Given the description of an element on the screen output the (x, y) to click on. 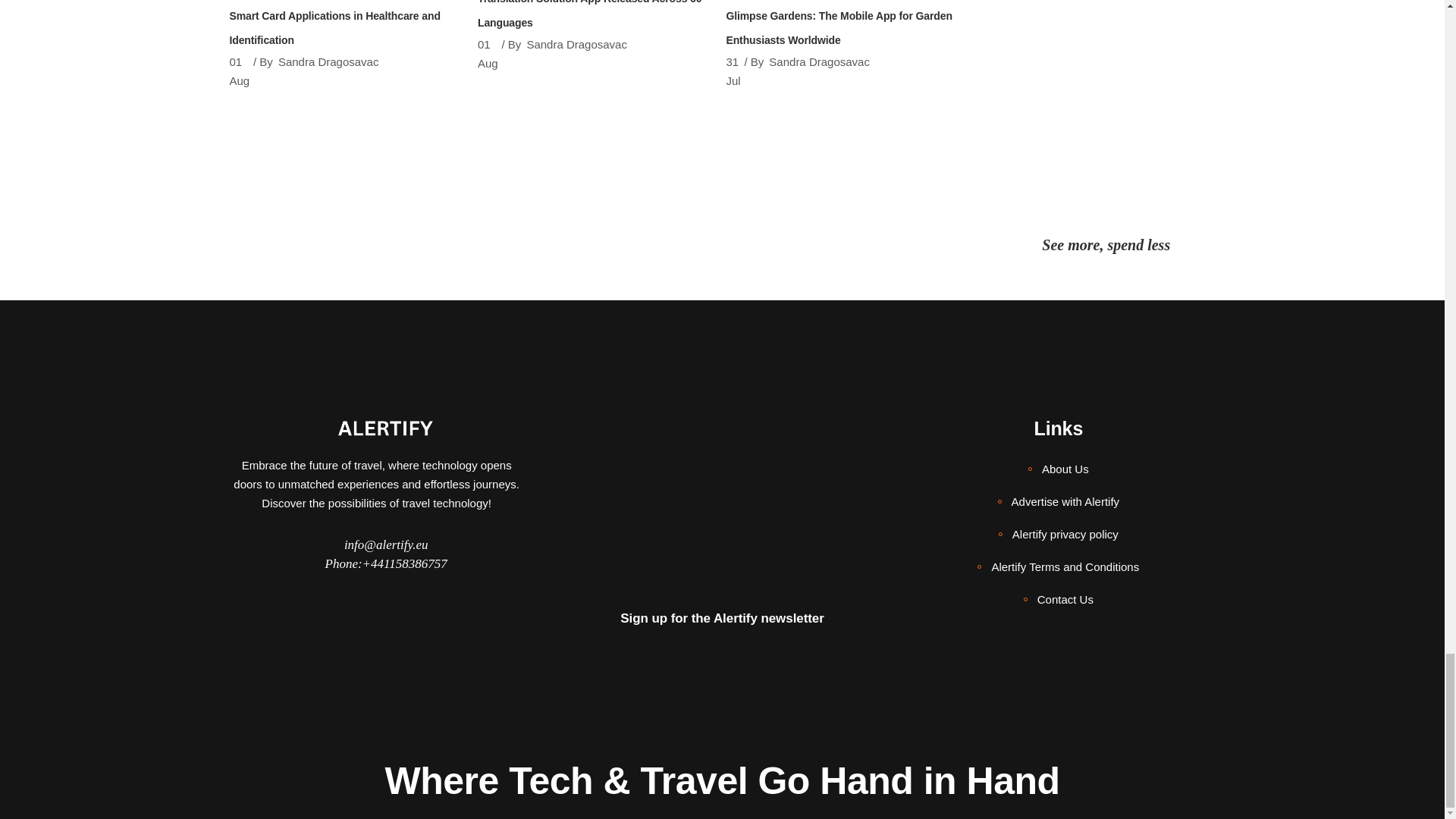
Smart Card Applications in Healthcare and Identification (333, 27)
